Given the description of an element on the screen output the (x, y) to click on. 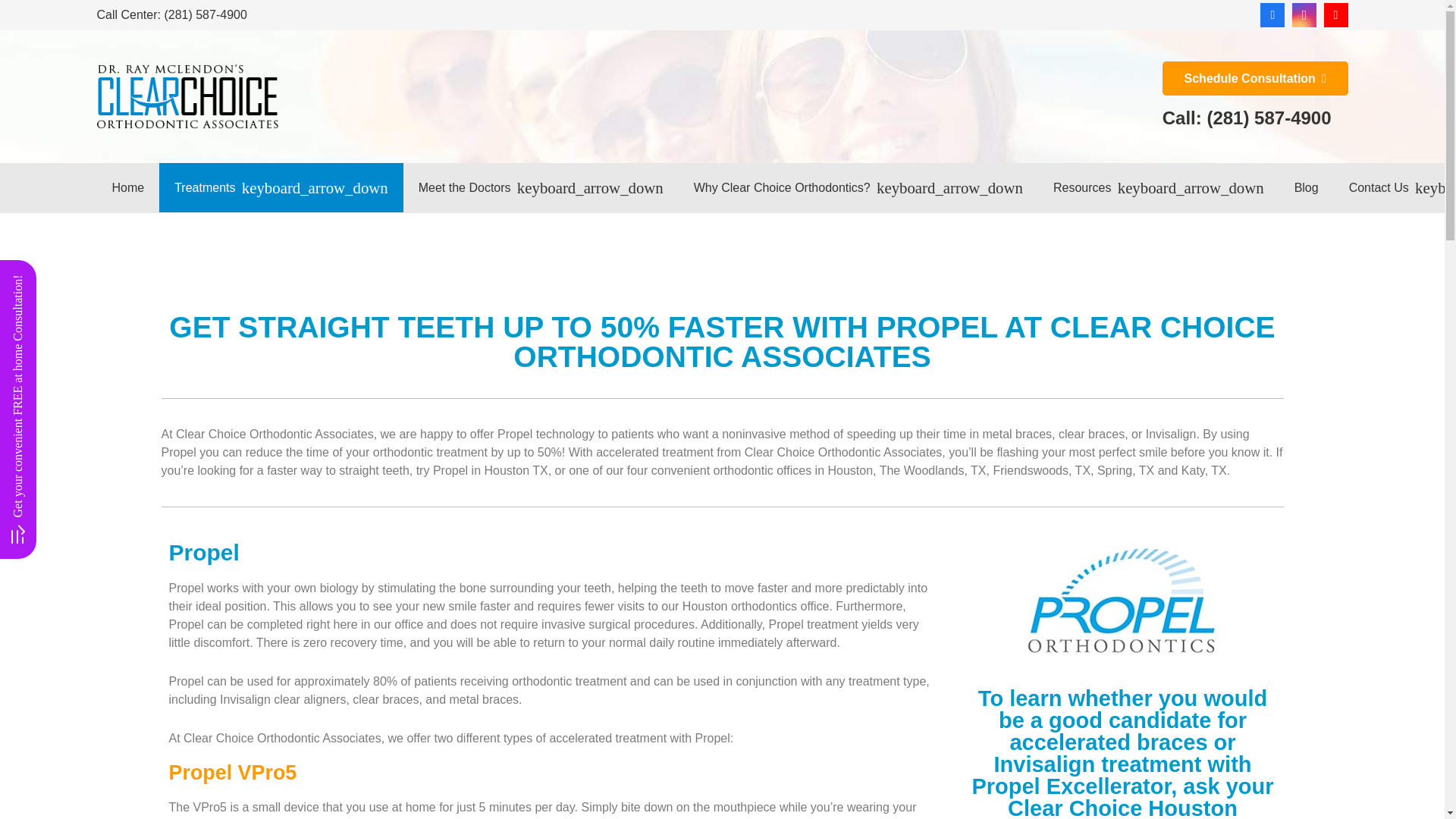
Instagram (1304, 15)
Schedule Consultation (1254, 78)
Why Clear Choice Orthodontics? (858, 187)
Facebook (1272, 15)
Resources (1158, 187)
Home (128, 187)
Treatments (280, 187)
Blog (1306, 187)
YouTube (1335, 15)
Meet the Doctors (540, 187)
